Given the description of an element on the screen output the (x, y) to click on. 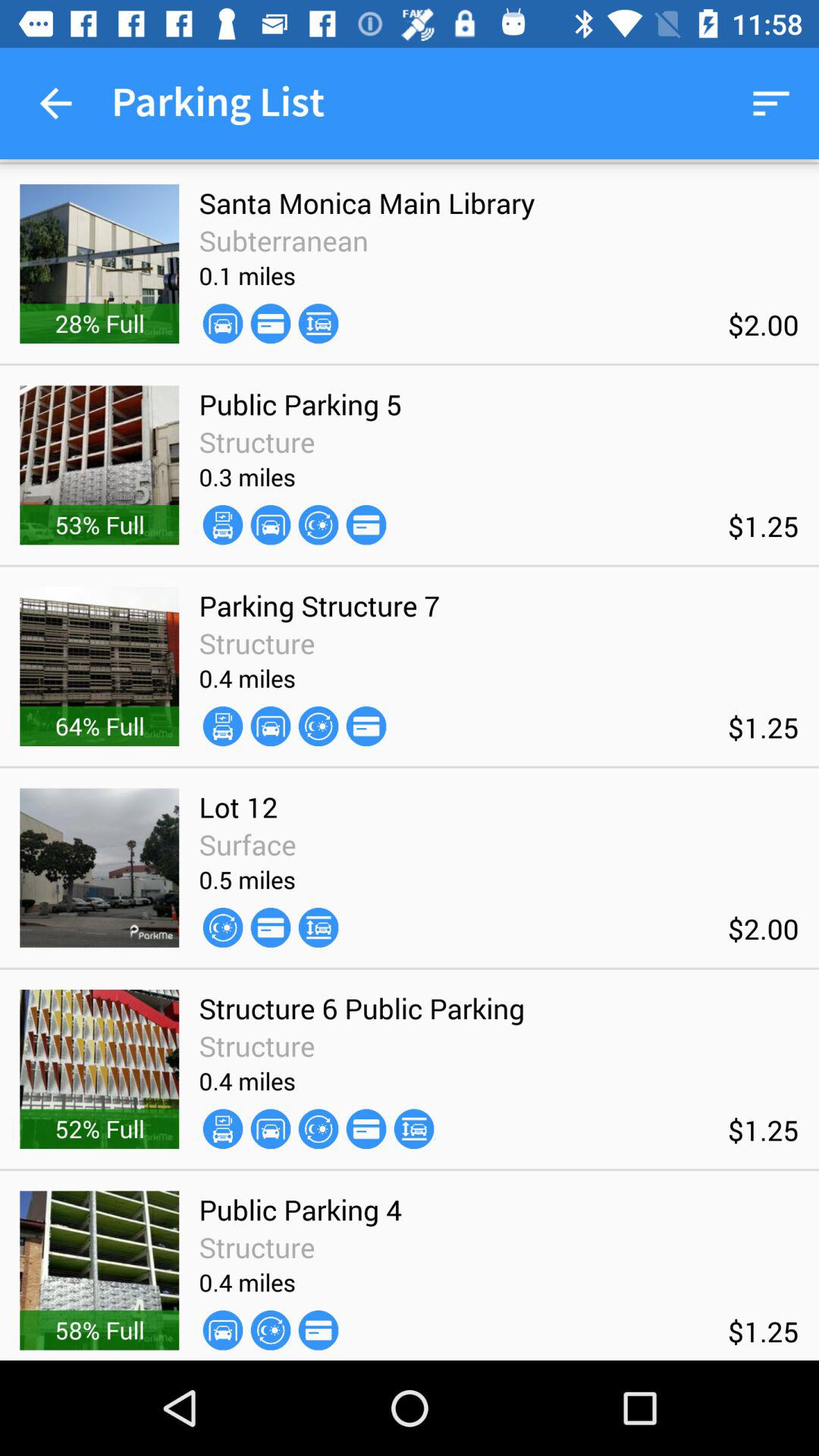
scroll to 64% full item (99, 725)
